Given the description of an element on the screen output the (x, y) to click on. 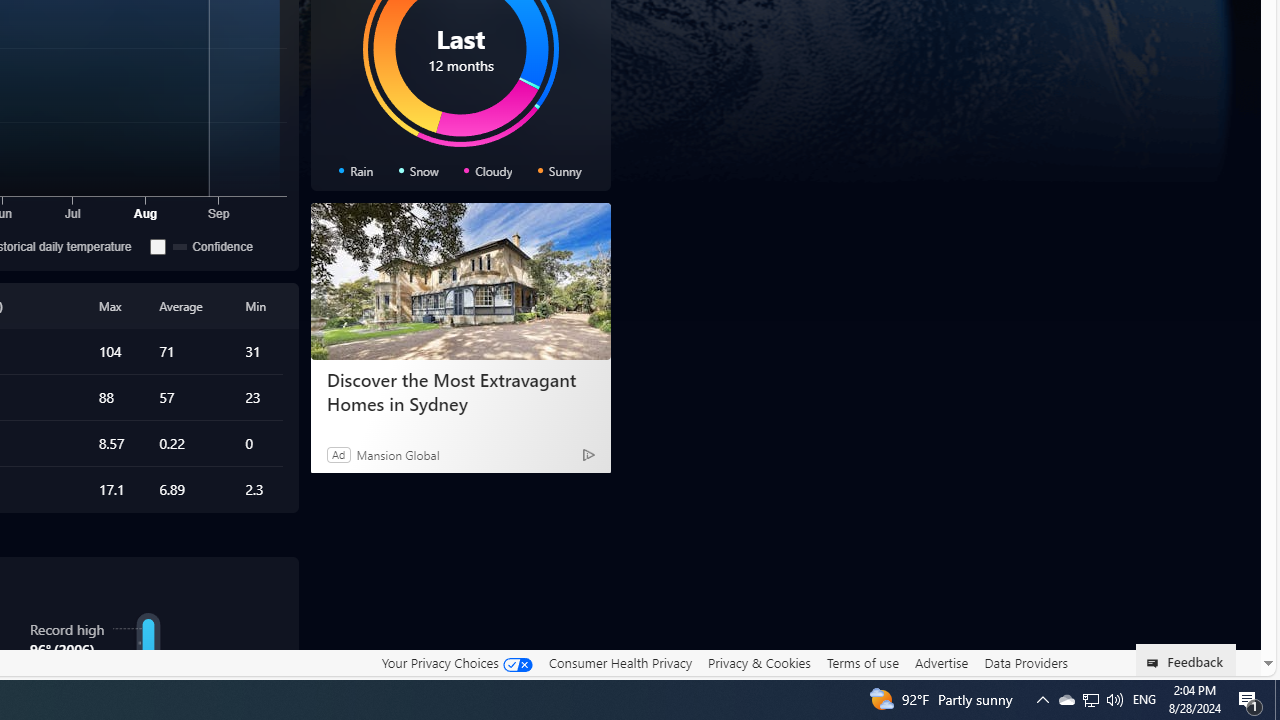
Feedback (1186, 659)
Terms of use (861, 662)
Your Privacy Choices (456, 662)
Advertise (940, 663)
Confidence (214, 246)
Privacy & Cookies (759, 663)
Data Providers (1025, 662)
Your Privacy Choices (456, 663)
Ad Choice (588, 454)
Discover the Most Extravagant Homes in Sydney (459, 281)
Ad (338, 453)
Data Providers (1025, 663)
Mansion Global (397, 453)
Class: feedback_link_icon-DS-EntryPoint1-1 (1156, 663)
